Given the description of an element on the screen output the (x, y) to click on. 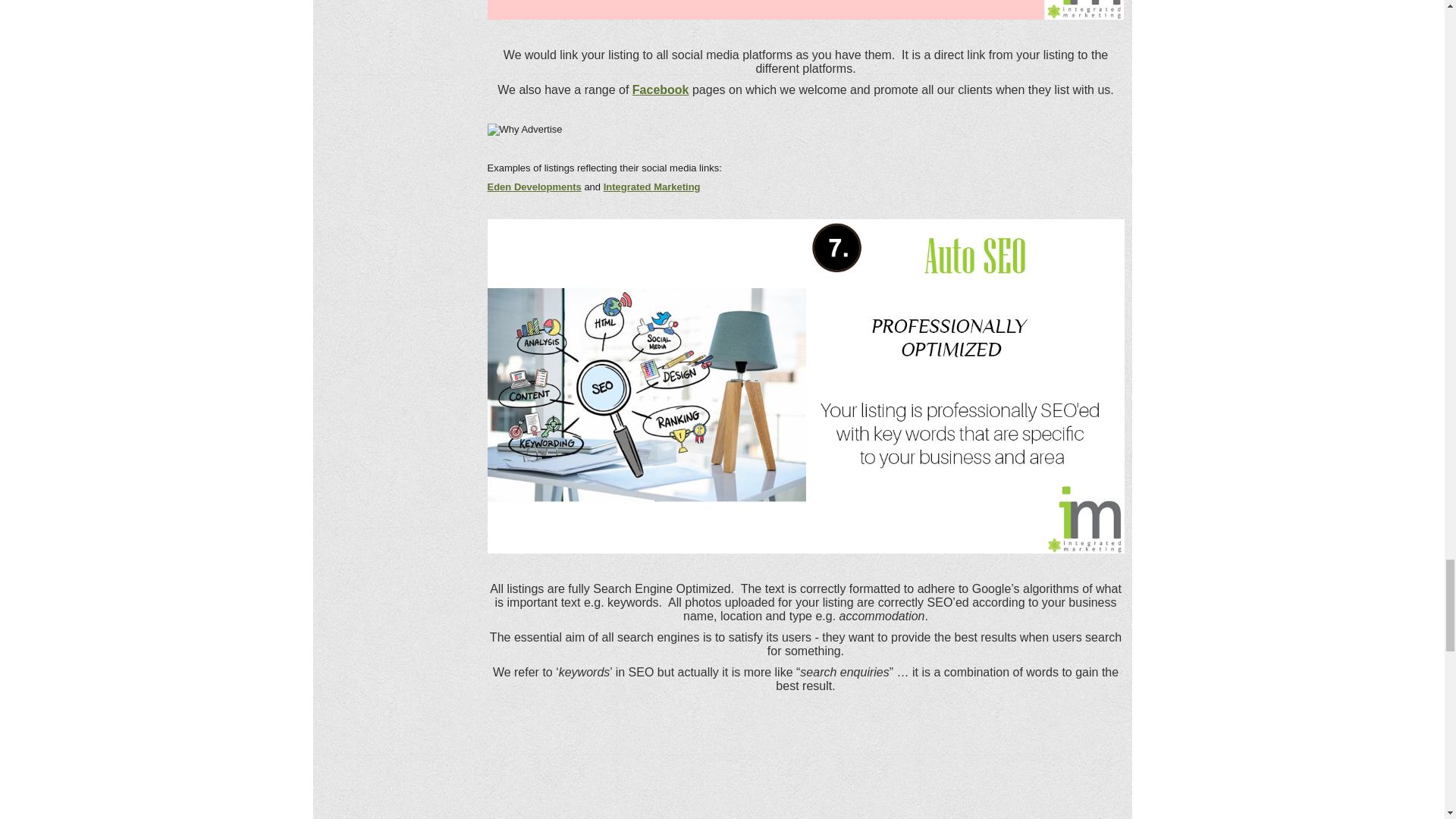
YouTube video player (804, 769)
